Given the description of an element on the screen output the (x, y) to click on. 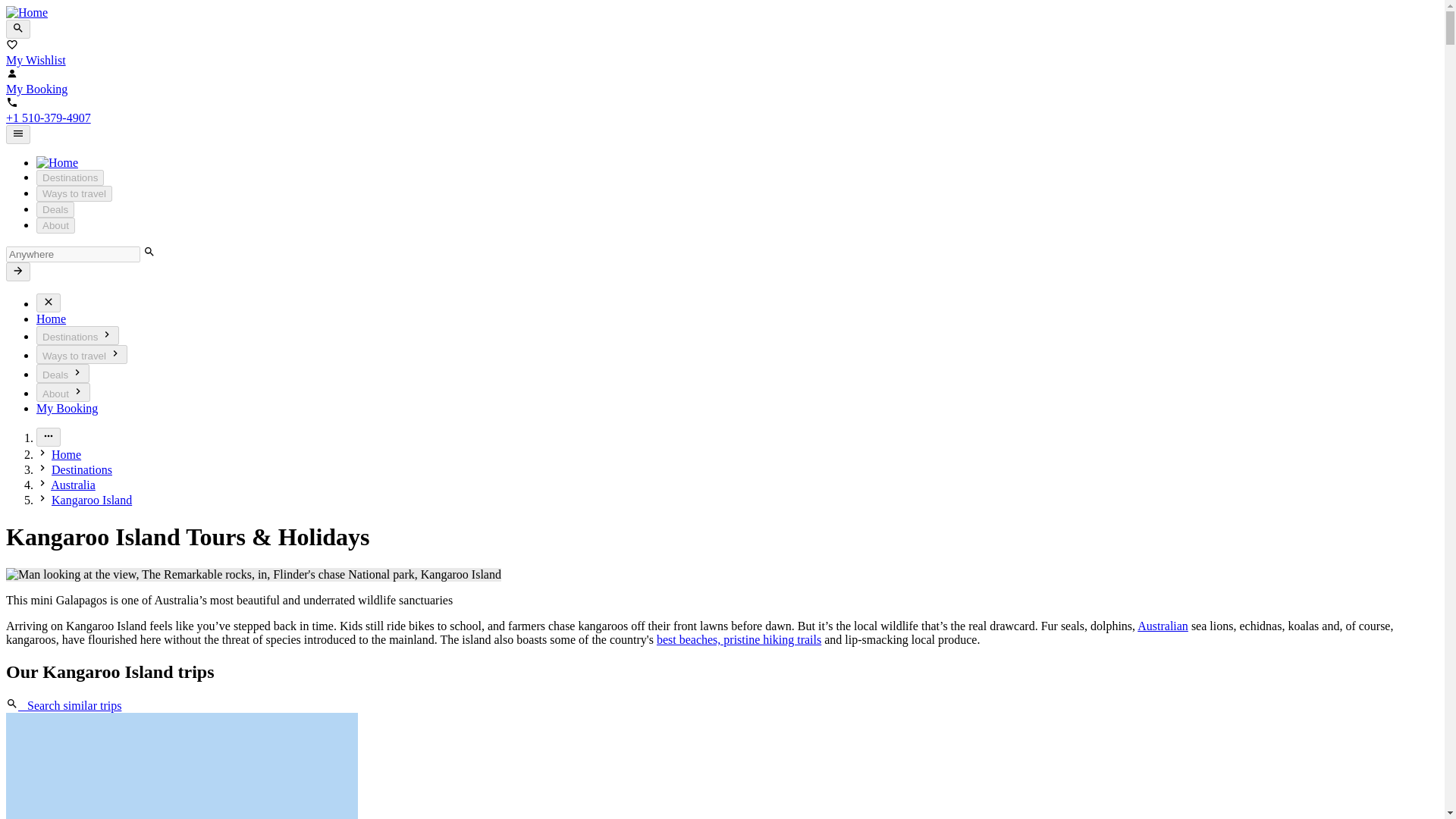
About (63, 392)
Home (50, 318)
Destinations (69, 177)
Deals (62, 373)
Ways to travel (82, 353)
Read more (48, 436)
Ways to travel (74, 193)
My Booking (66, 408)
About (55, 225)
Destinations (77, 334)
Deals (55, 209)
